Given the description of an element on the screen output the (x, y) to click on. 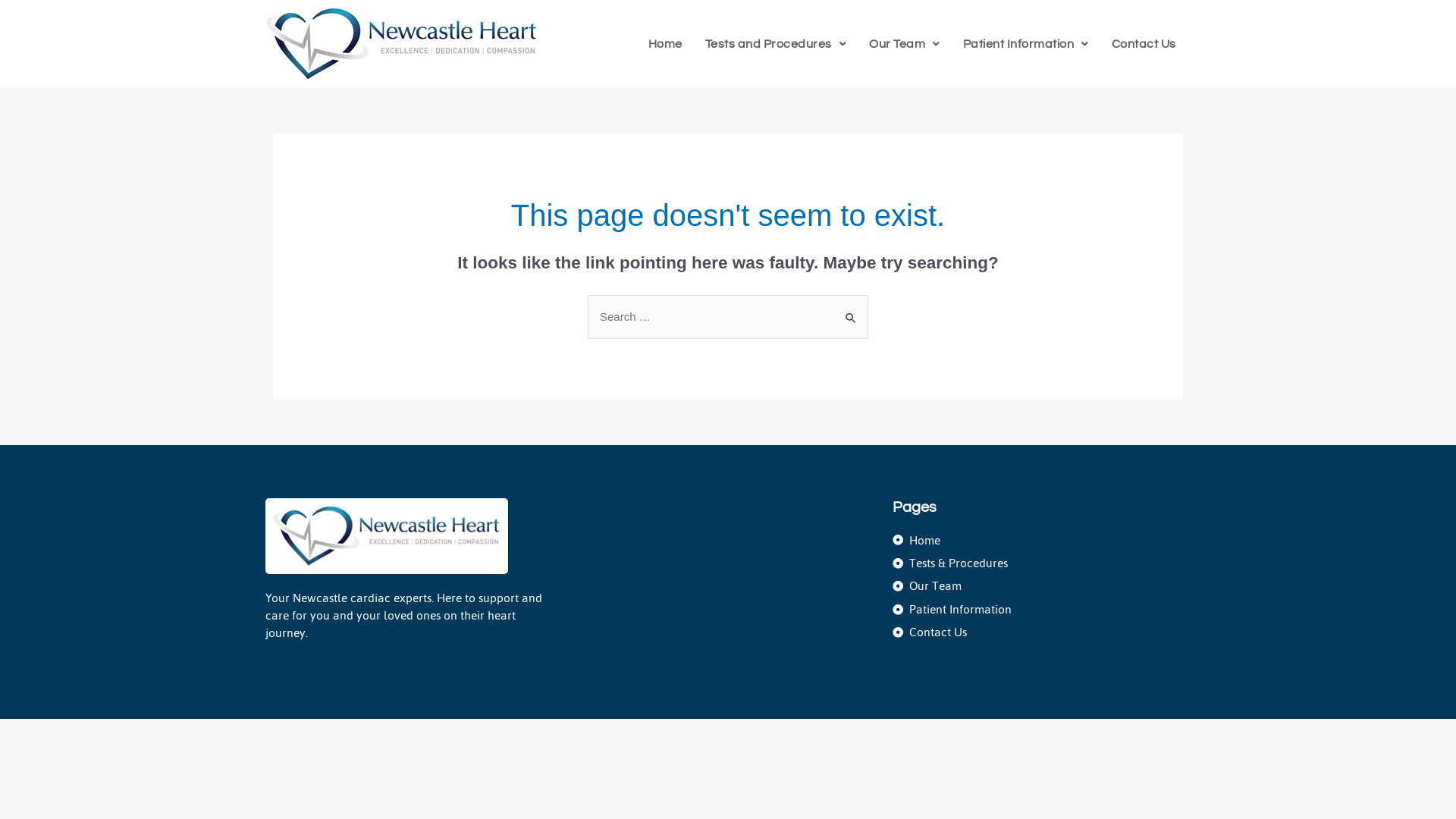
Our Team Element type: text (904, 43)
Patient Information Element type: text (1041, 609)
Our Team Element type: text (1041, 585)
Patient Information Element type: text (1025, 43)
Home Element type: text (665, 43)
Tests & Procedures Element type: text (1041, 562)
Contact Us Element type: text (1041, 631)
Search Element type: text (851, 310)
Tests and Procedures Element type: text (775, 43)
Contact Us Element type: text (1143, 43)
Home Element type: text (1041, 540)
